Given the description of an element on the screen output the (x, y) to click on. 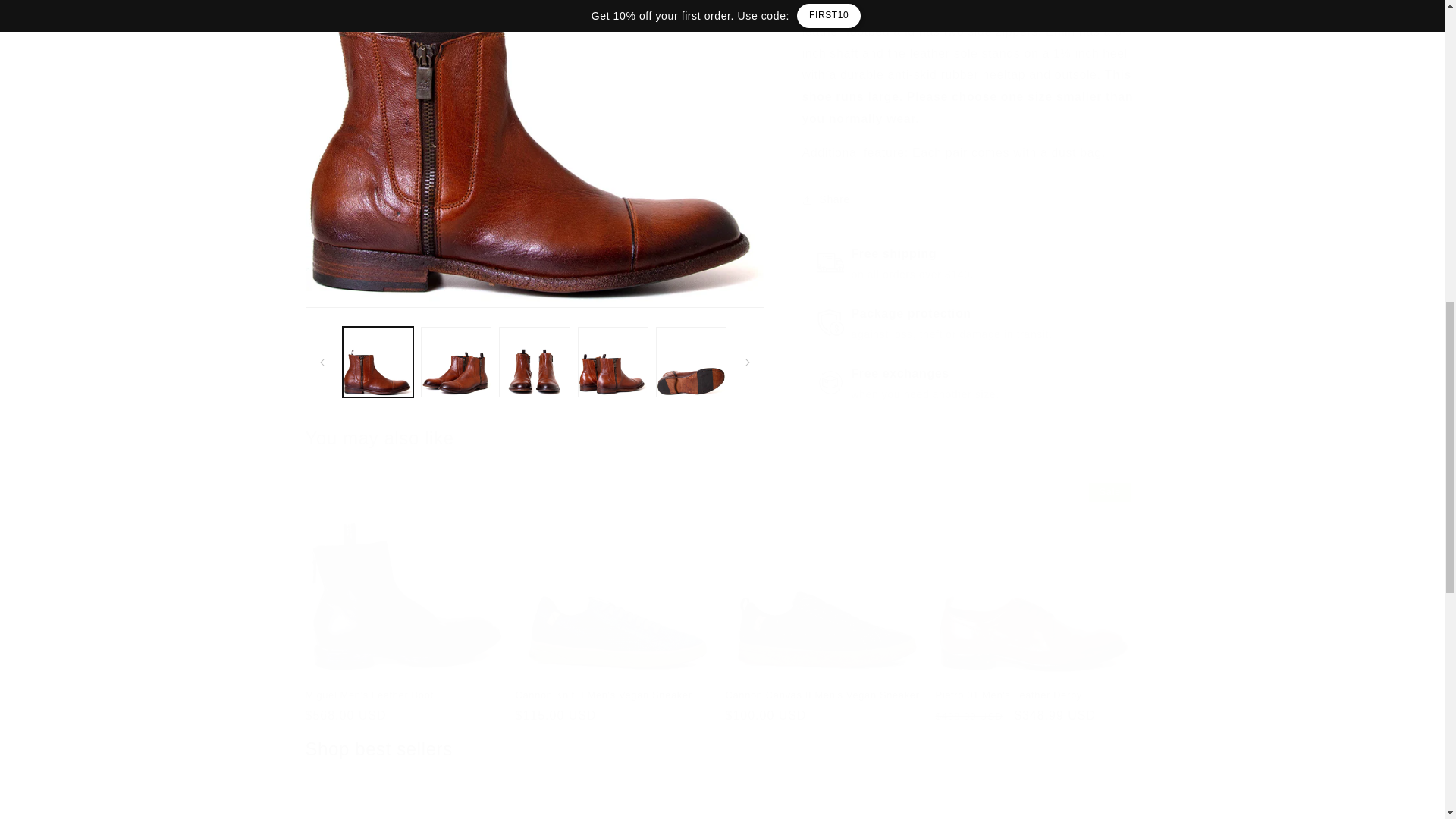
Trippen (371, 808)
Cydwoq (792, 808)
Kork-Ease (721, 800)
Pantanetti (931, 808)
Blundstone (652, 808)
Lemargo (512, 808)
Shop best sellers (1071, 808)
